Given the description of an element on the screen output the (x, y) to click on. 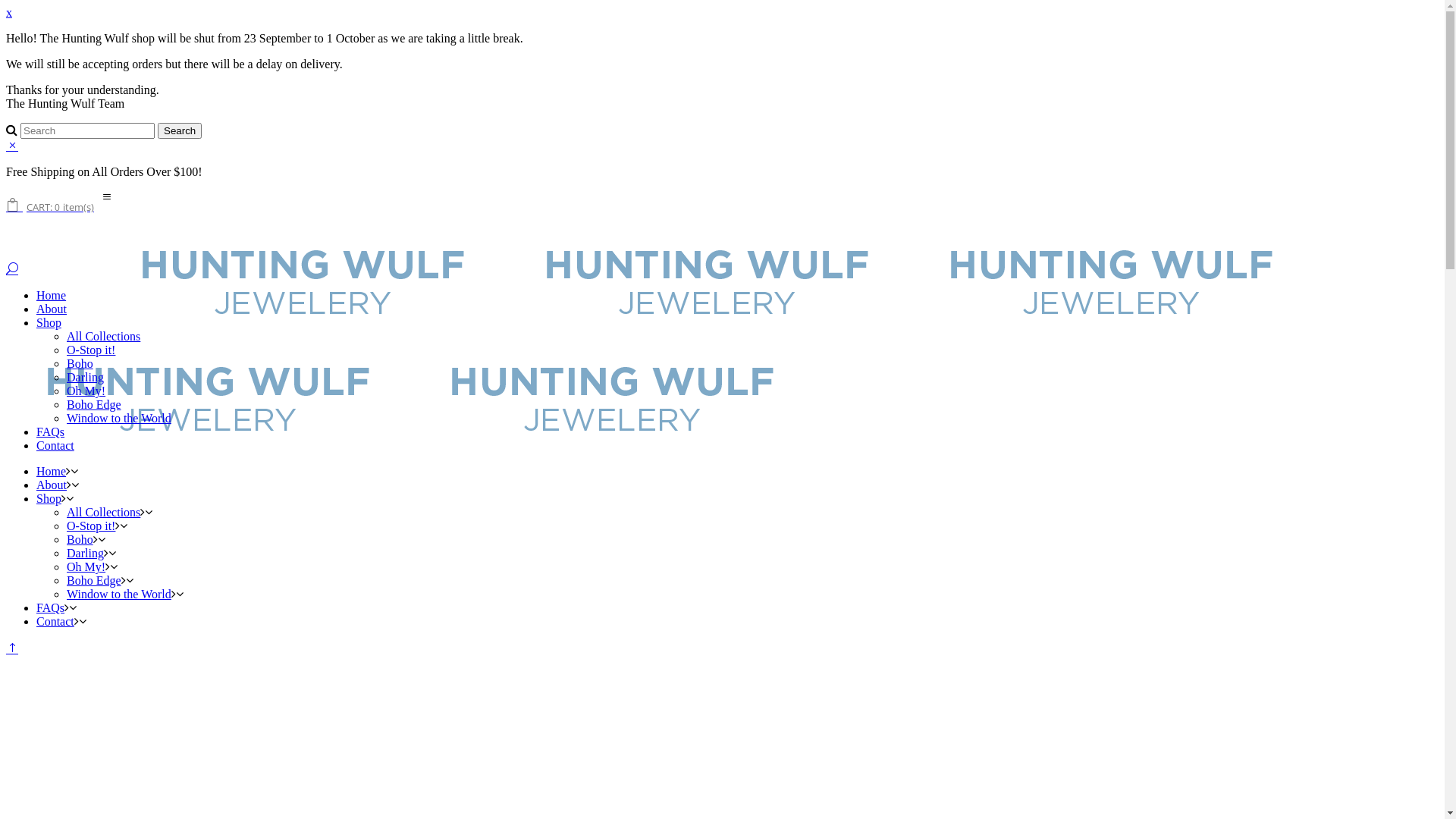
Boho Edge Element type: text (93, 404)
All Collections Element type: text (103, 335)
CART: 0 item(s) Element type: text (53, 204)
Home Element type: text (50, 470)
All Collections Element type: text (103, 511)
About Element type: text (51, 484)
O-Stop it! Element type: text (90, 349)
FAQs Element type: text (50, 607)
Darling Element type: text (84, 552)
Window to the World Element type: text (118, 593)
Home Element type: text (50, 294)
FAQs Element type: text (50, 431)
Window to the World Element type: text (118, 417)
Search Element type: text (179, 130)
Oh My! Element type: text (85, 566)
Shop Element type: text (48, 322)
Boho Element type: text (79, 363)
x Element type: text (9, 12)
About Element type: text (51, 308)
Oh My! Element type: text (85, 390)
O-Stop it! Element type: text (90, 525)
Contact Element type: text (55, 445)
Boho Edge Element type: text (93, 580)
Contact Element type: text (55, 621)
Boho Element type: text (79, 539)
Darling Element type: text (84, 376)
Shop Element type: text (48, 498)
